Given the description of an element on the screen output the (x, y) to click on. 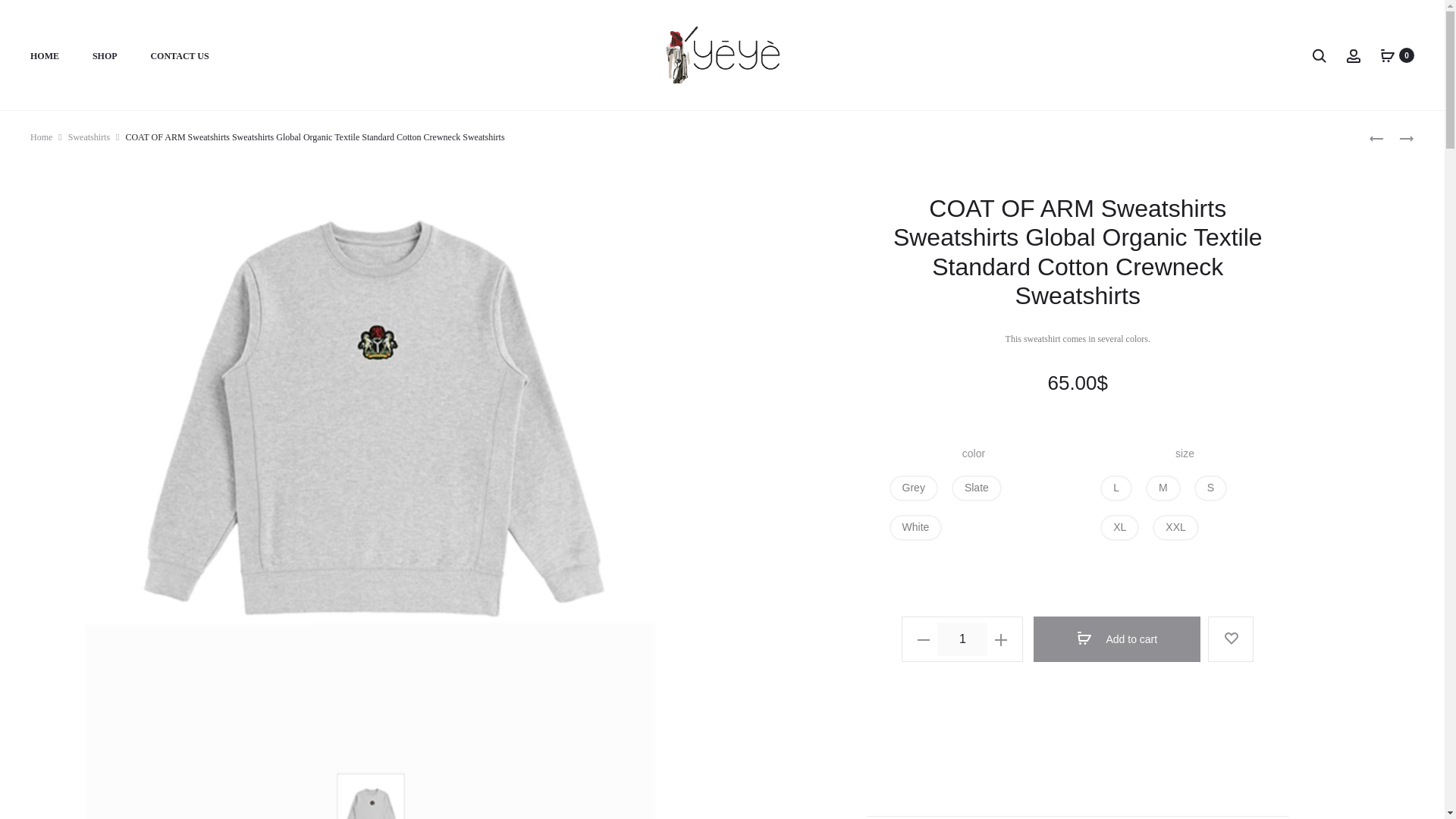
PayPal (1077, 783)
SHOP (105, 56)
HOME (44, 56)
1 (962, 639)
Account (1353, 54)
Home (41, 136)
Add to wishlist (1230, 638)
0 (1387, 54)
PayPal Message 1 (1077, 737)
Qty (962, 639)
Add to cart (1116, 638)
Search (1318, 54)
